Given the description of an element on the screen output the (x, y) to click on. 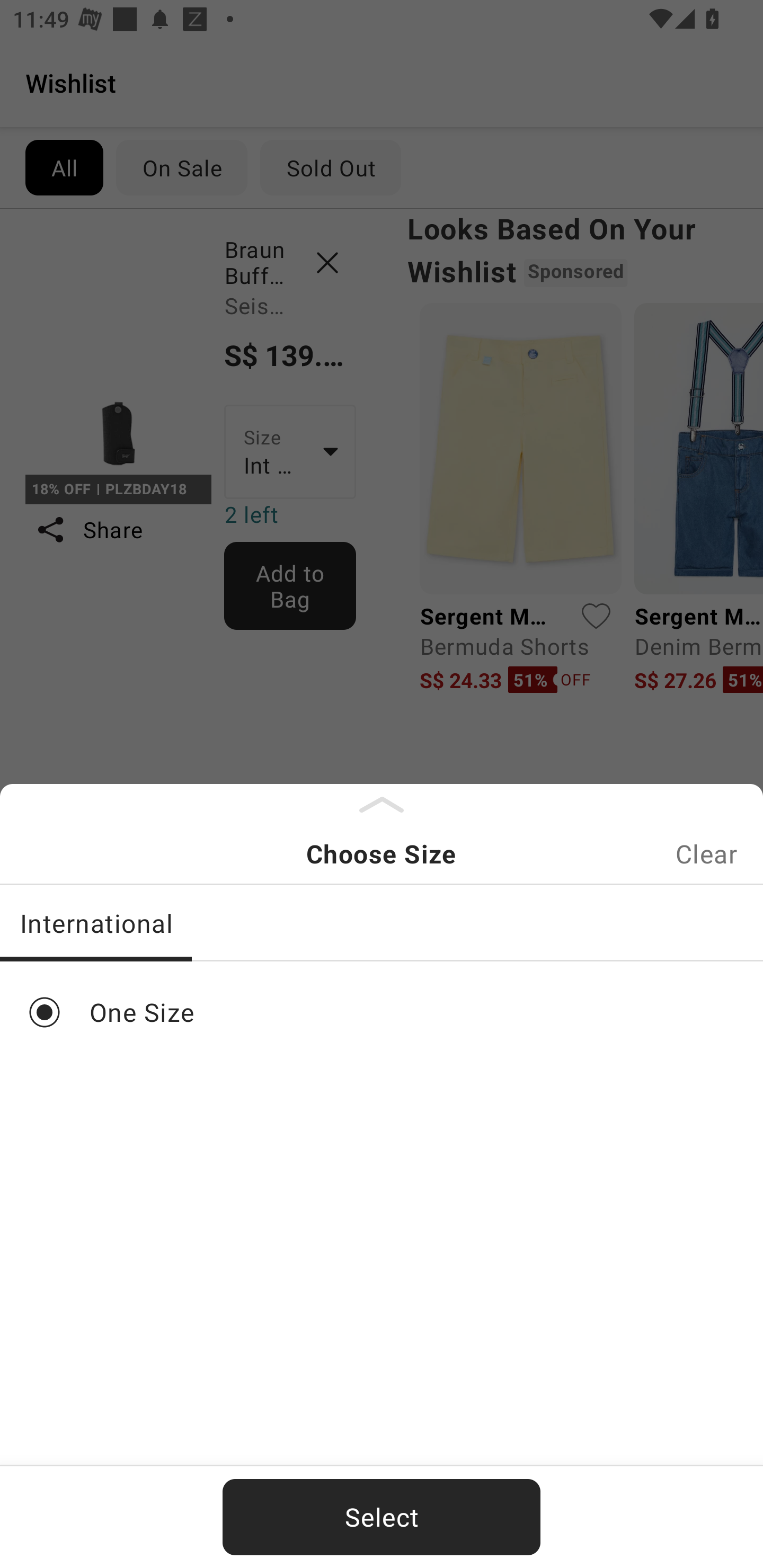
Clear (706, 852)
One Size (381, 1011)
Select (381, 1516)
